Given the description of an element on the screen output the (x, y) to click on. 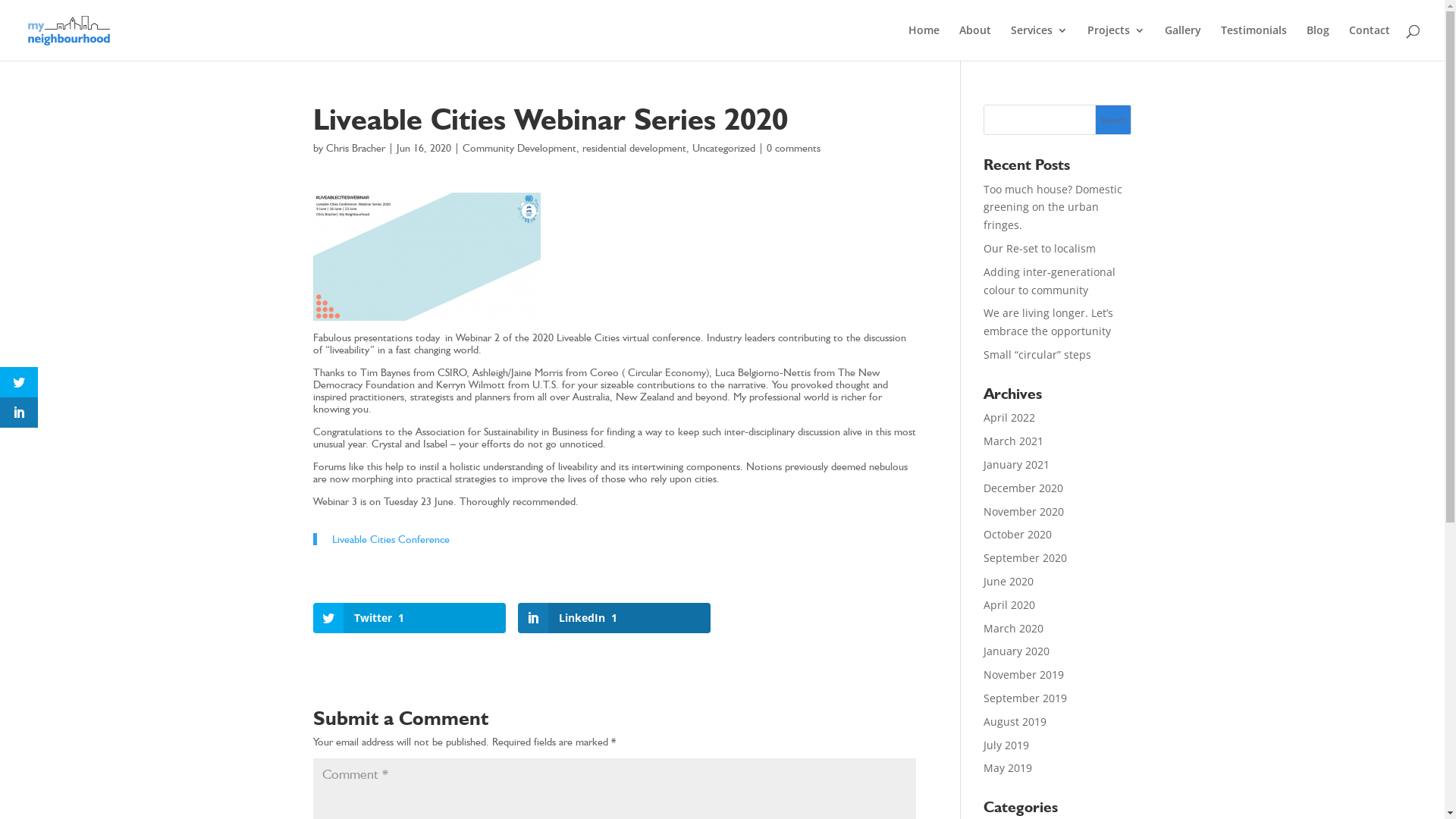
June 2020 Element type: text (1008, 581)
January 2021 Element type: text (1016, 464)
residential development Element type: text (634, 147)
September 2019 Element type: text (1024, 697)
Testimonials Element type: text (1253, 42)
May 2019 Element type: text (1007, 767)
Projects Element type: text (1116, 42)
Contact Element type: text (1369, 42)
November 2020 Element type: text (1023, 511)
August 2019 Element type: text (1014, 721)
Services Element type: text (1038, 42)
Chris Bracher Element type: text (355, 147)
October 2020 Element type: text (1017, 534)
April 2020 Element type: text (1009, 604)
Search Element type: text (1113, 119)
Uncategorized Element type: text (722, 147)
About Element type: text (975, 42)
January 2020 Element type: text (1016, 650)
Our Re-set to localism Element type: text (1039, 248)
Adding inter-generational colour to community Element type: text (1049, 280)
April 2022 Element type: text (1009, 417)
September 2020 Element type: text (1024, 557)
March 2021 Element type: text (1013, 440)
Home Element type: text (923, 42)
Gallery Element type: text (1182, 42)
July 2019 Element type: text (1006, 744)
Blog Element type: text (1317, 42)
0 comments Element type: text (792, 147)
LinkedIn 1 Element type: text (613, 617)
Community Development Element type: text (519, 147)
Liveable Cities Conference Element type: text (390, 539)
November 2019 Element type: text (1023, 674)
December 2020 Element type: text (1023, 487)
Twitter 1 Element type: text (408, 617)
March 2020 Element type: text (1013, 628)
Too much house? Domestic greening on the urban fringes. Element type: text (1052, 207)
